Given the description of an element on the screen output the (x, y) to click on. 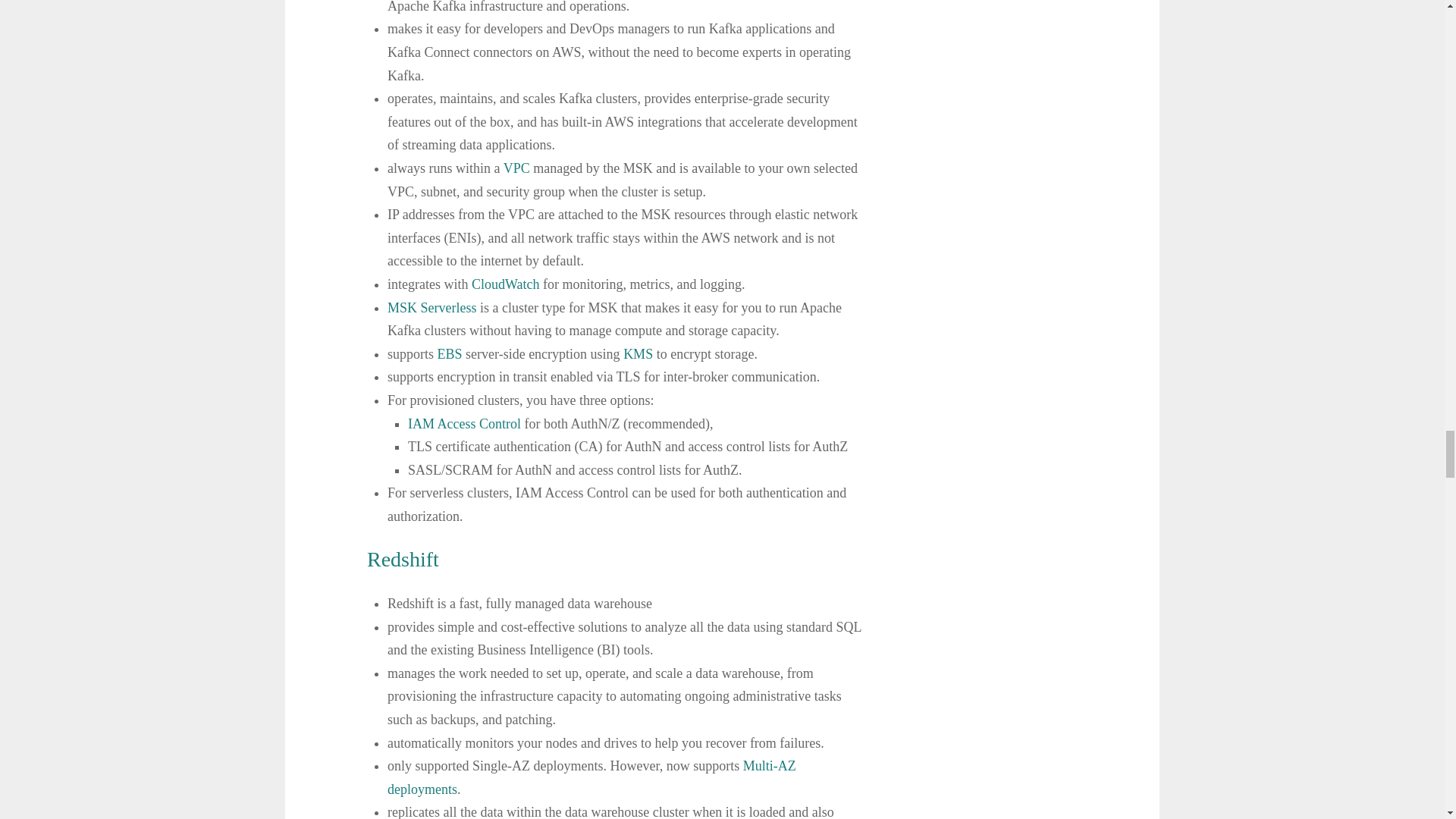
VPC (516, 168)
Multi-AZ deployments (591, 777)
IAM Access Control (464, 423)
Redshift (402, 558)
MSK Serverless (432, 307)
CloudWatch (505, 283)
KMS (637, 353)
EBS (450, 353)
